Given the description of an element on the screen output the (x, y) to click on. 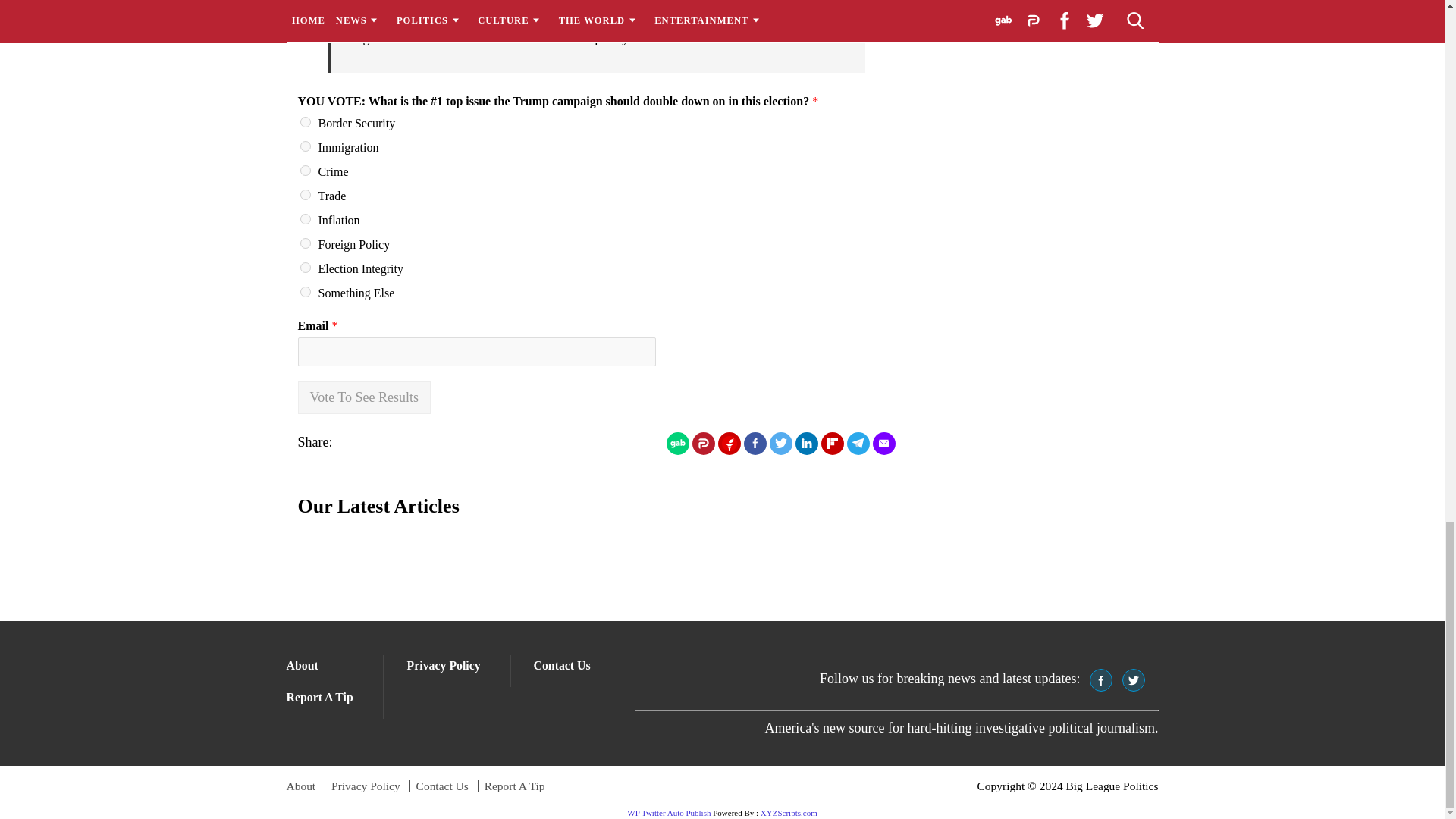
Follow us on Twitter (1133, 680)
Crime (305, 170)
Trade (305, 194)
Immigration (305, 145)
Border Security  (305, 122)
Election Integrity  (305, 267)
Inflation (305, 218)
WP Twitter Auto Publish (668, 812)
Foreign Policy  (305, 243)
Something Else (305, 291)
